Given the description of an element on the screen output the (x, y) to click on. 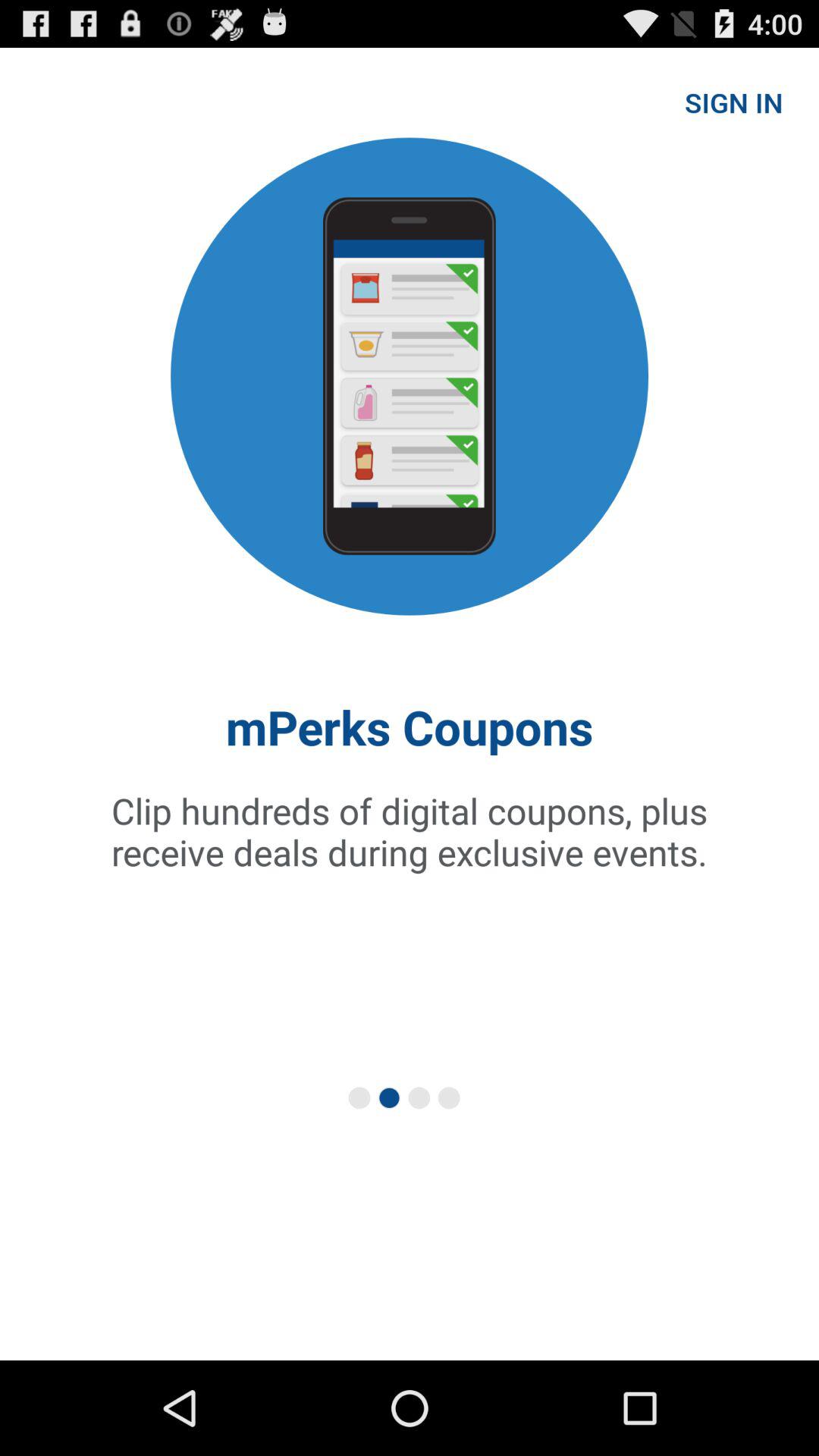
open the sign in at the top right corner (733, 101)
